Given the description of an element on the screen output the (x, y) to click on. 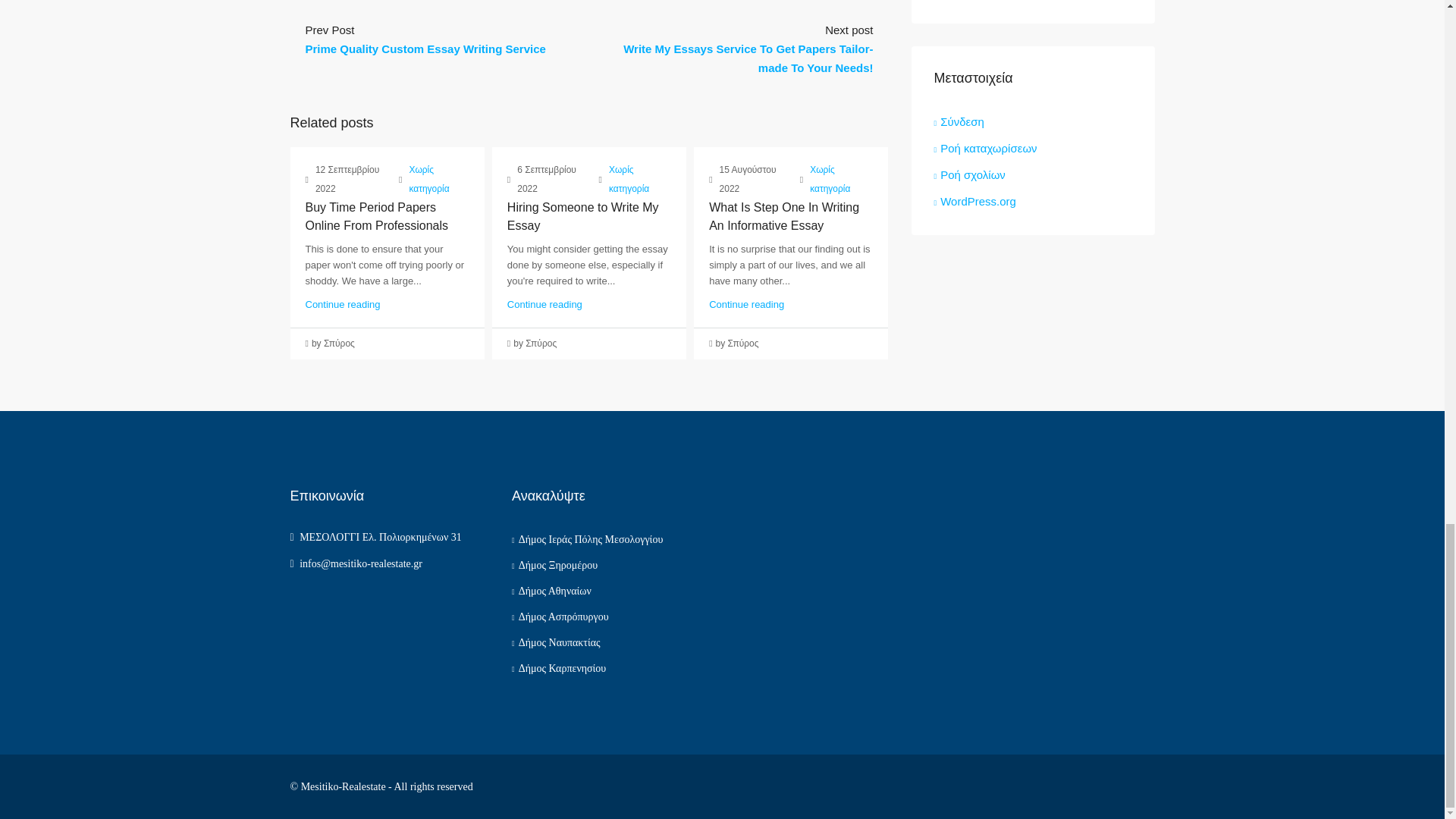
Continue reading (544, 304)
Prime Quality Custom Essay Writing Service (424, 48)
Continue reading (746, 304)
Continue reading (342, 304)
What Is Step One In Writing An Informative Essay (784, 215)
Hiring Someone to Write My Essay (582, 215)
Buy Time Period Papers Online From Professionals (376, 215)
